Given the description of an element on the screen output the (x, y) to click on. 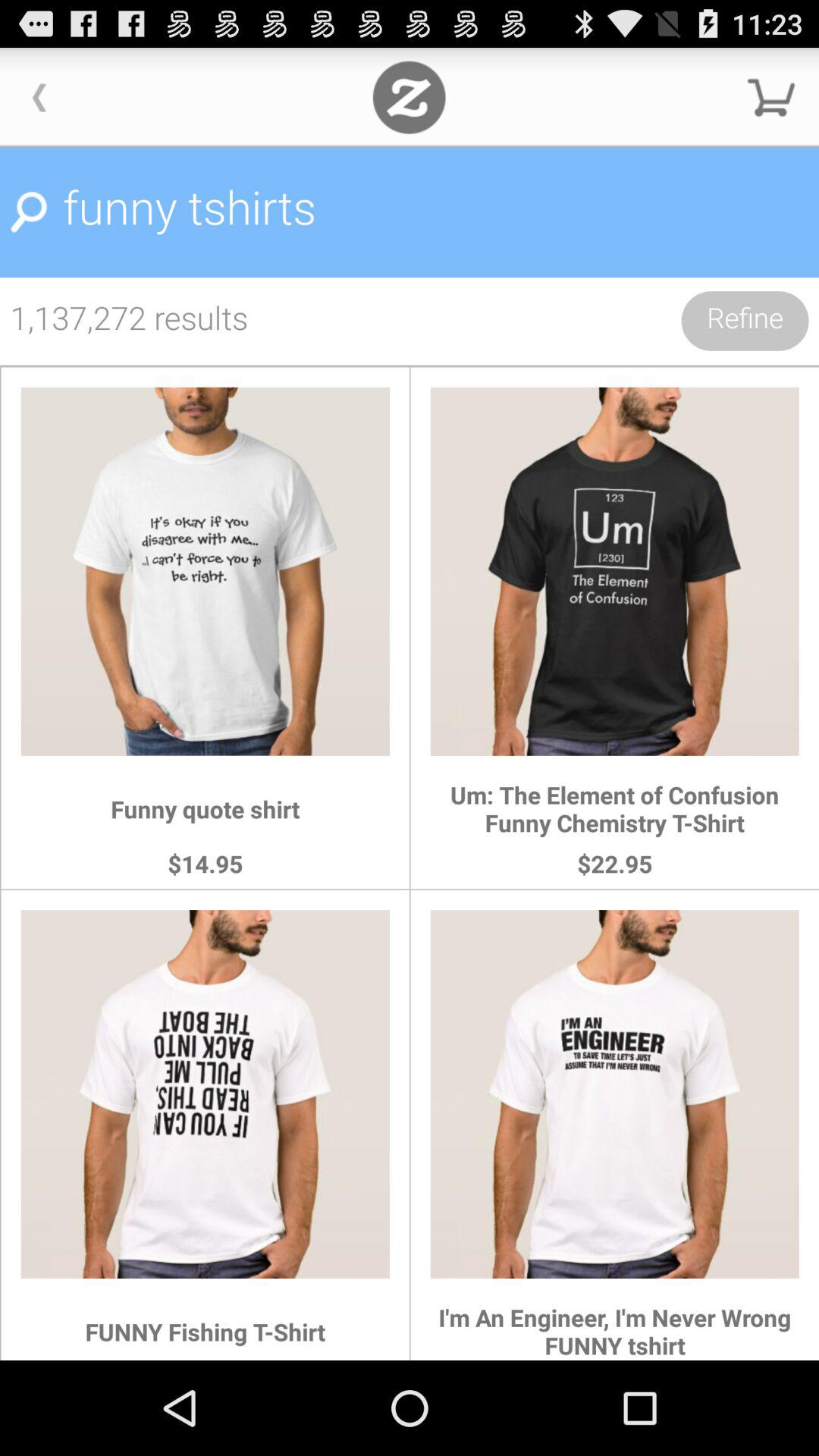
return to homepage (408, 97)
